Given the description of an element on the screen output the (x, y) to click on. 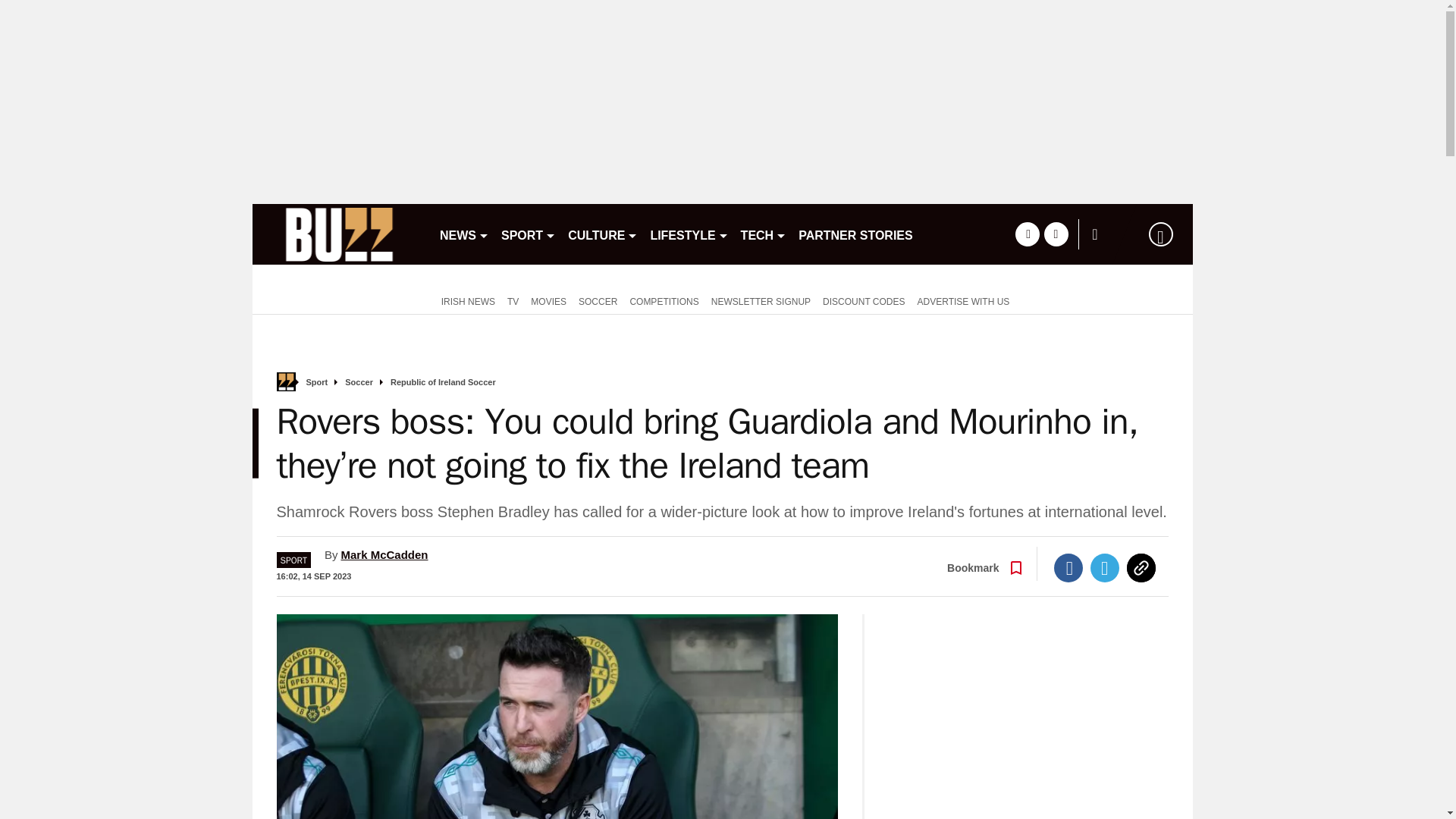
Facebook (1068, 567)
NEWS (464, 233)
facebook (1026, 233)
TECH (764, 233)
CULTURE (602, 233)
SPORT (528, 233)
LIFESTYLE (688, 233)
PARTNER STORIES (855, 233)
buzz (338, 233)
twitter (1055, 233)
Twitter (1104, 567)
